Given the description of an element on the screen output the (x, y) to click on. 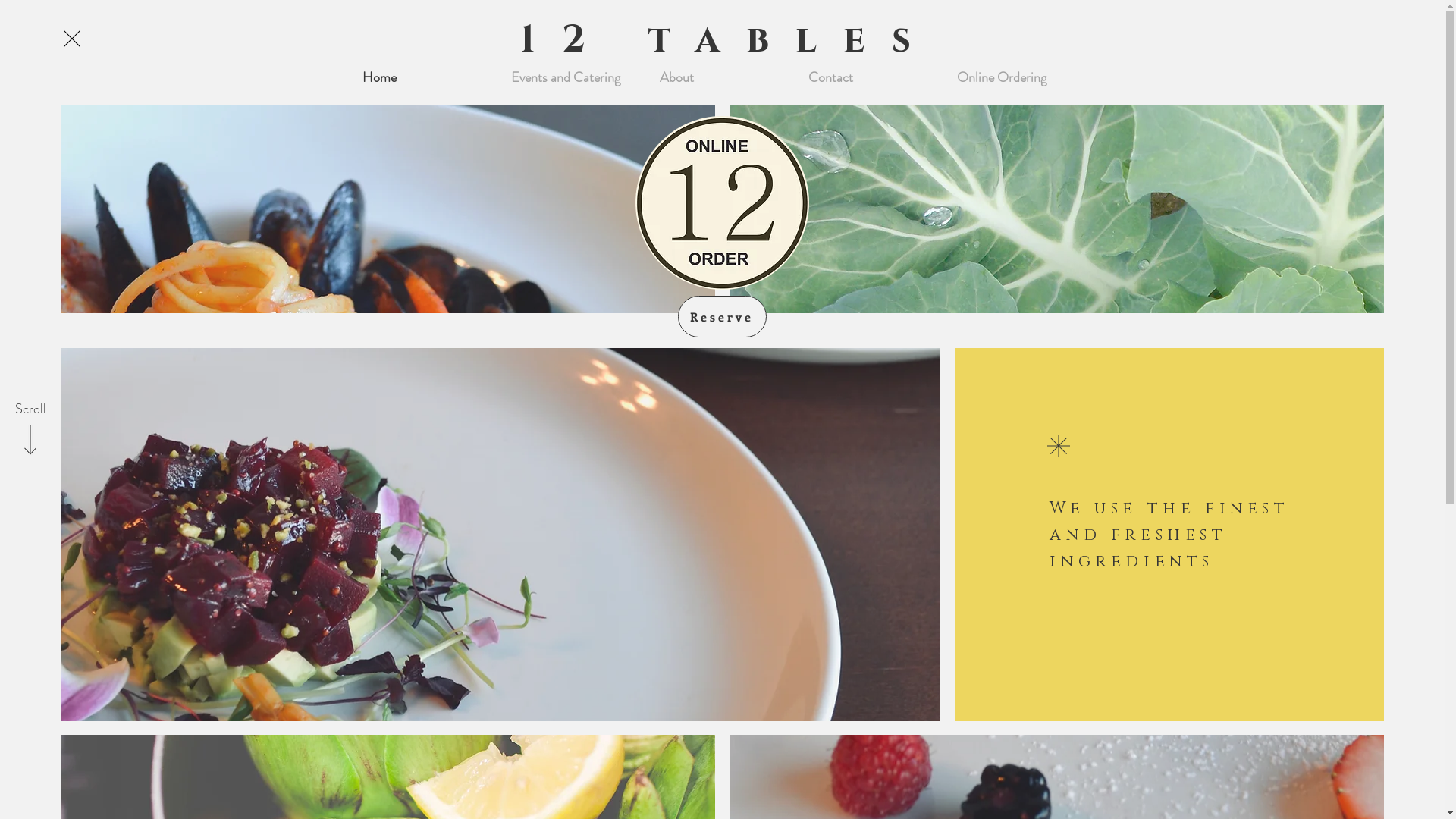
12 Tables Logo_edited.png Element type: hover (722, 202)
12 tables Element type: text (728, 39)
Contact Element type: text (870, 77)
Home Element type: text (424, 77)
Reserve Element type: text (721, 316)
Events and Catering Element type: text (572, 77)
Online Ordering Element type: text (1018, 77)
Scroll Element type: text (30, 409)
About Element type: text (721, 77)
Back to site Element type: hover (71, 38)
